Given the description of an element on the screen output the (x, y) to click on. 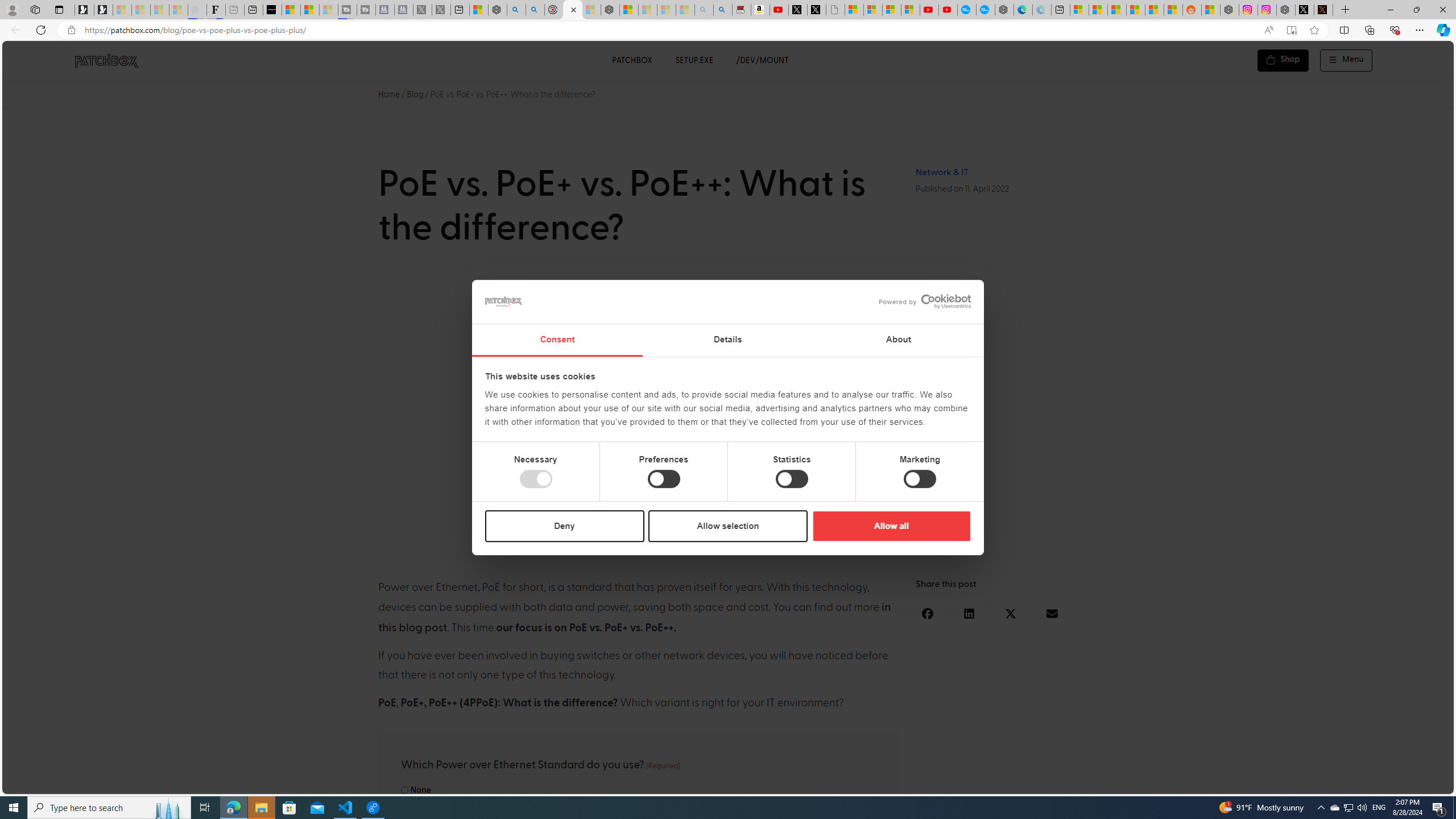
Language switcher : Czech (1413, 782)
Language switcher : Romanian (1368, 782)
None (403, 790)
Language switcher : Klingon (1425, 782)
Language switcher : Finnish (1391, 782)
/DEV/MOUNT (762, 60)
Language switcher : Italian (1265, 782)
